Given the description of an element on the screen output the (x, y) to click on. 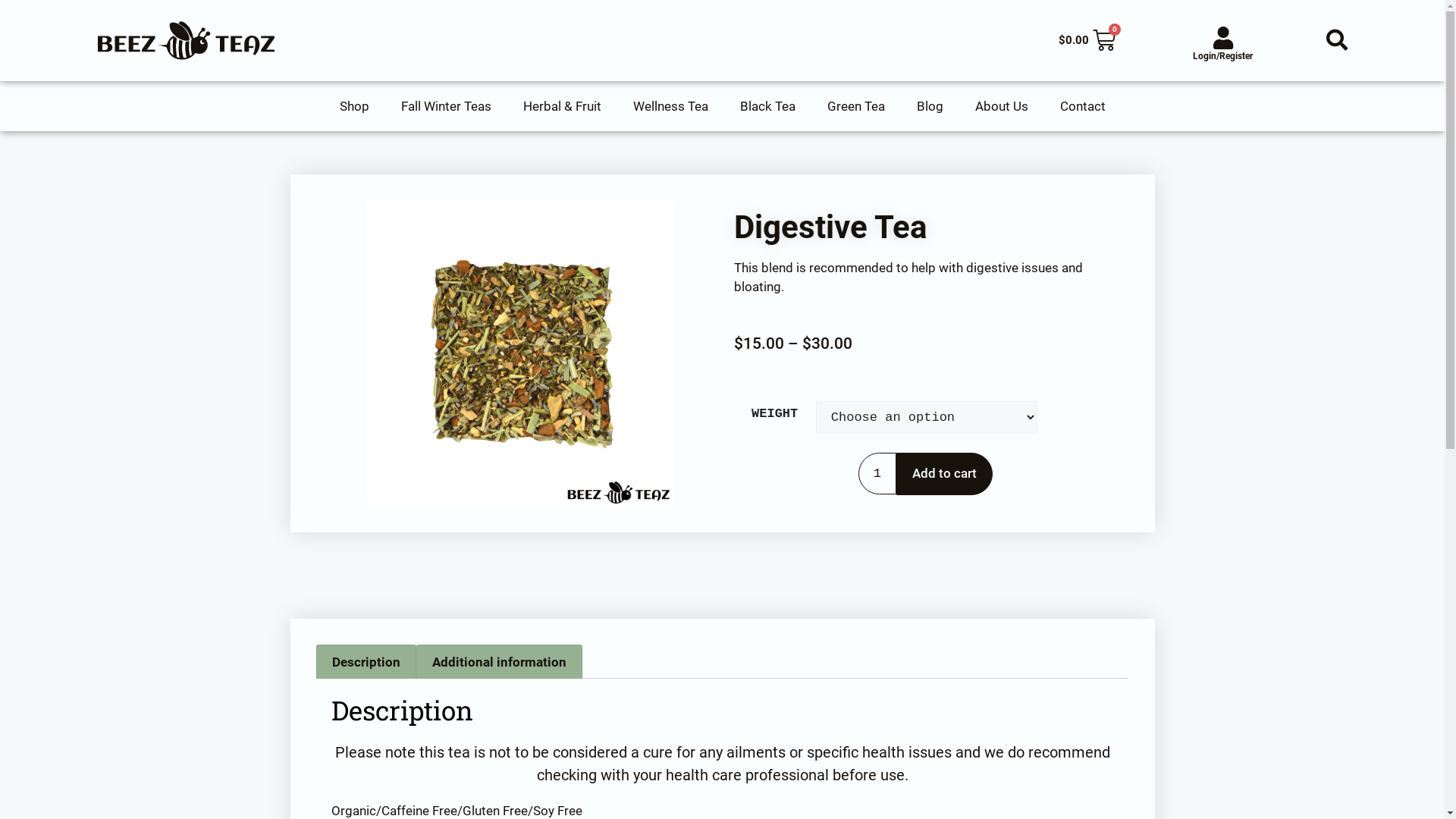
Shop Element type: text (353, 105)
Herbal & Fruit Element type: text (561, 105)
Blog Element type: text (929, 105)
Green Tea Element type: text (855, 105)
About Us Element type: text (1000, 105)
Black Tea Element type: text (766, 105)
Add to cart Element type: text (944, 473)
Fall Winter Teas Element type: text (446, 105)
Description Element type: text (366, 661)
Additional information Element type: text (498, 661)
Contact Element type: text (1081, 105)
Wellness Tea Element type: text (670, 105)
$0.00
0 Element type: text (1086, 39)
